Given the description of an element on the screen output the (x, y) to click on. 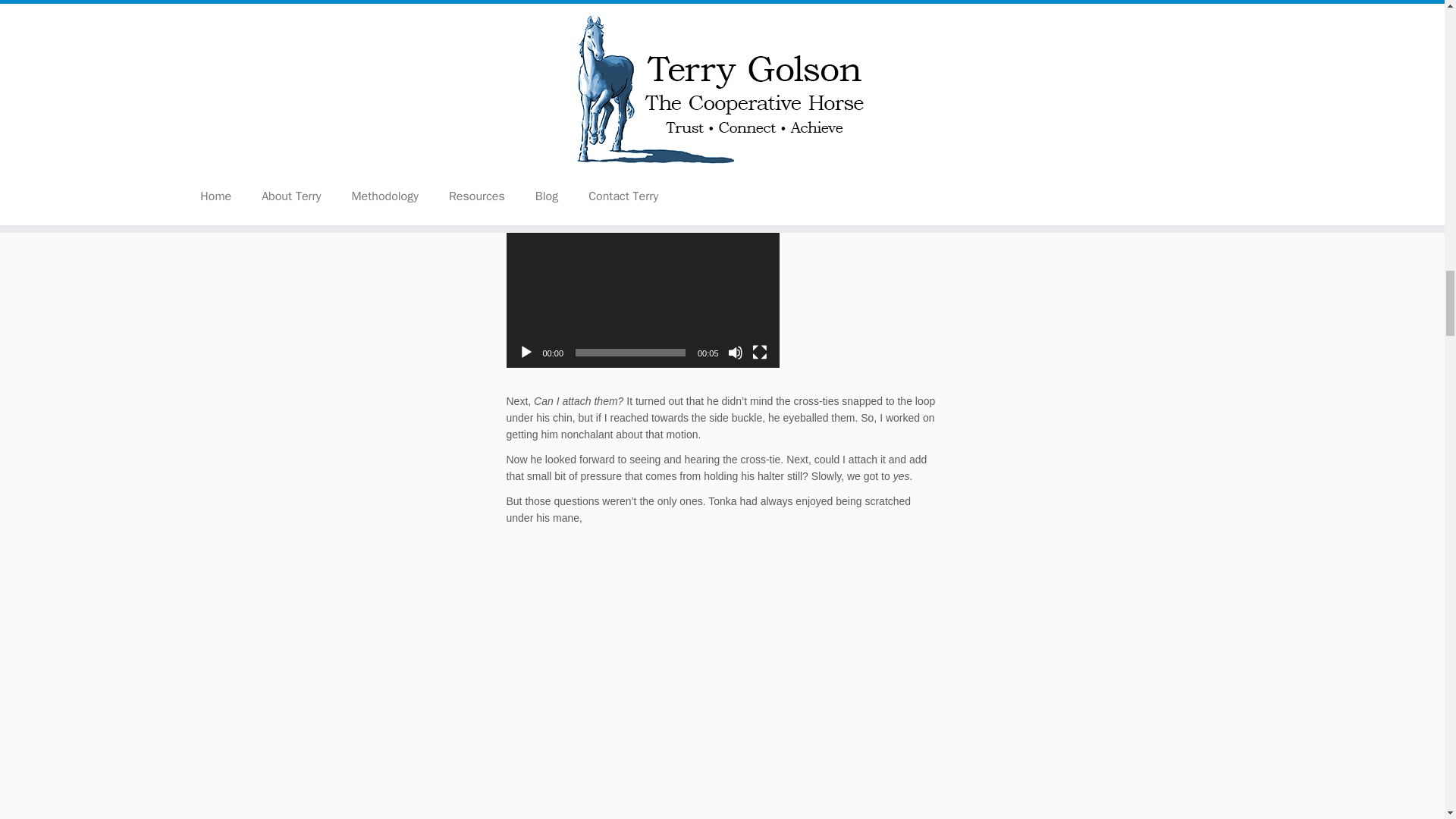
Play (526, 352)
Mute (735, 352)
Fullscreen (759, 352)
